Given the description of an element on the screen output the (x, y) to click on. 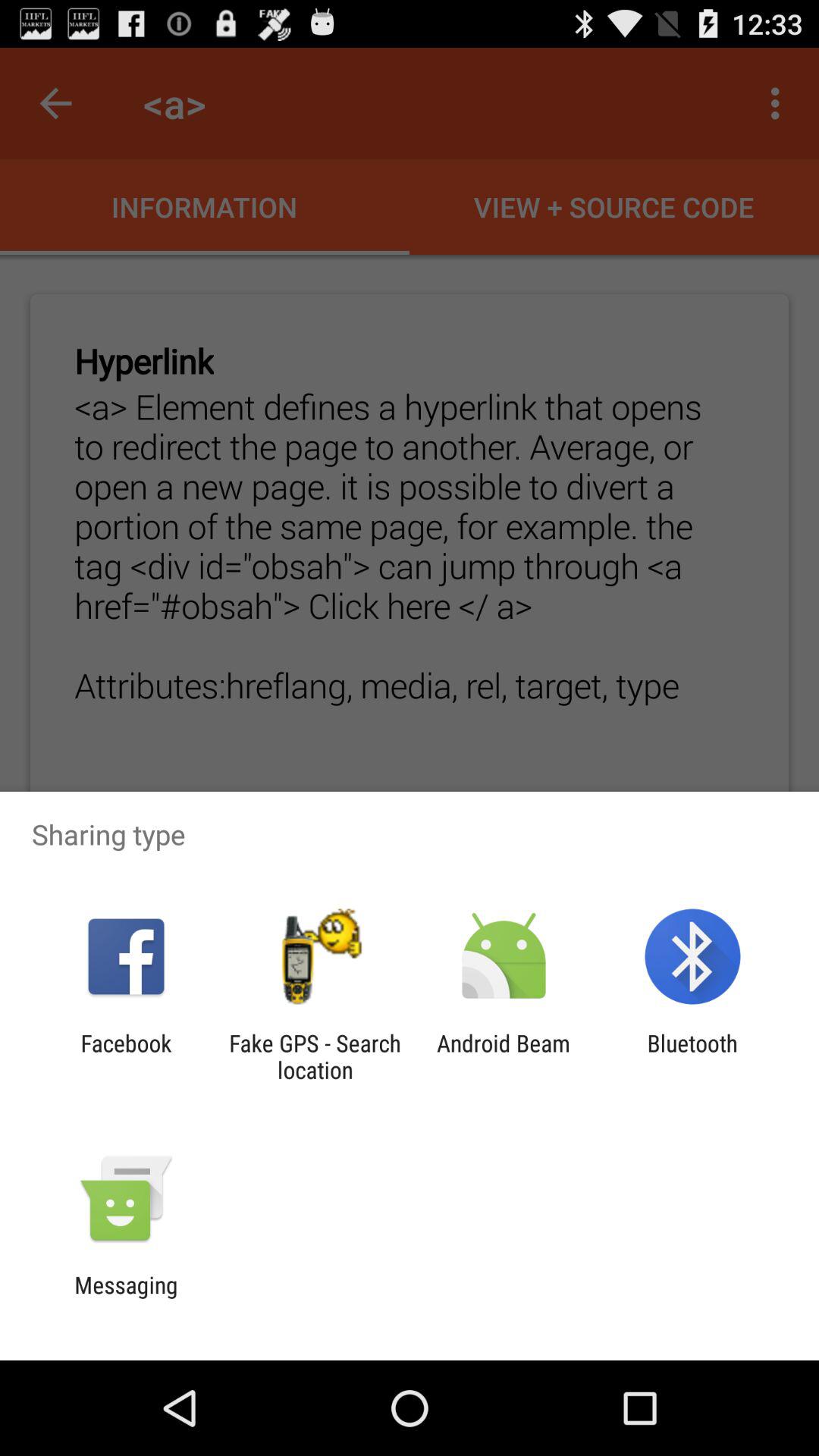
jump until the android beam item (503, 1056)
